Given the description of an element on the screen output the (x, y) to click on. 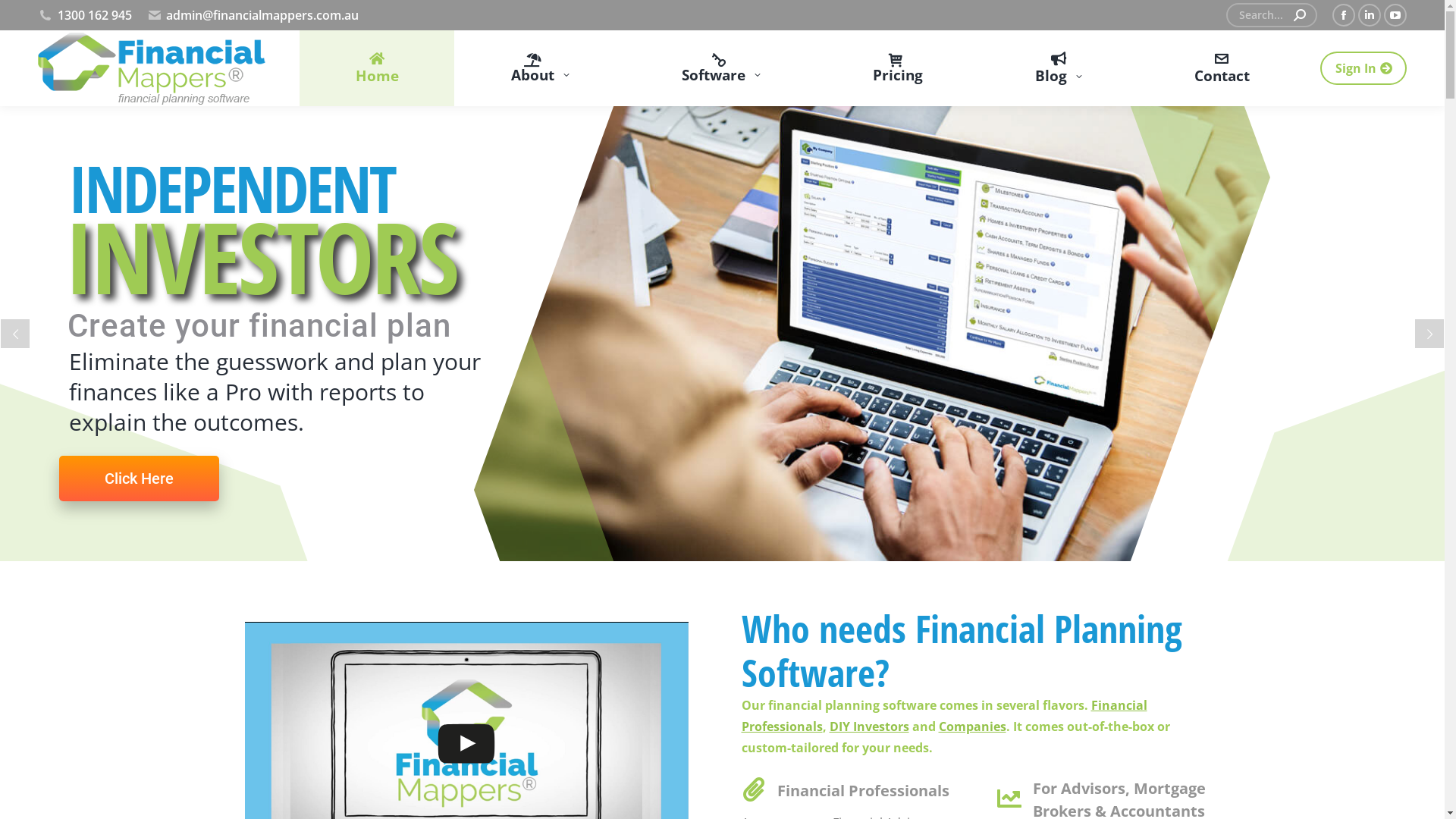
Home Element type: text (376, 68)
Software   Element type: text (720, 68)
Linkedin page opens in new window Element type: text (1369, 14)
Search form Element type: hover (1271, 15)
DIY Investors Element type: text (869, 726)
Contact Element type: text (1221, 68)
1300 162 945 Element type: text (84, 14)
Click Here Element type: text (139, 450)
Financial Professionals Element type: text (944, 715)
Sign In Element type: text (1363, 67)
YouTube page opens in new window Element type: text (1394, 14)
About   Element type: text (539, 68)
Pricing Element type: text (897, 68)
Facebook page opens in new window Element type: text (1343, 14)
Go! Element type: text (31, 18)
Companies Element type: text (972, 726)
Blog   Element type: text (1058, 68)
